Given the description of an element on the screen output the (x, y) to click on. 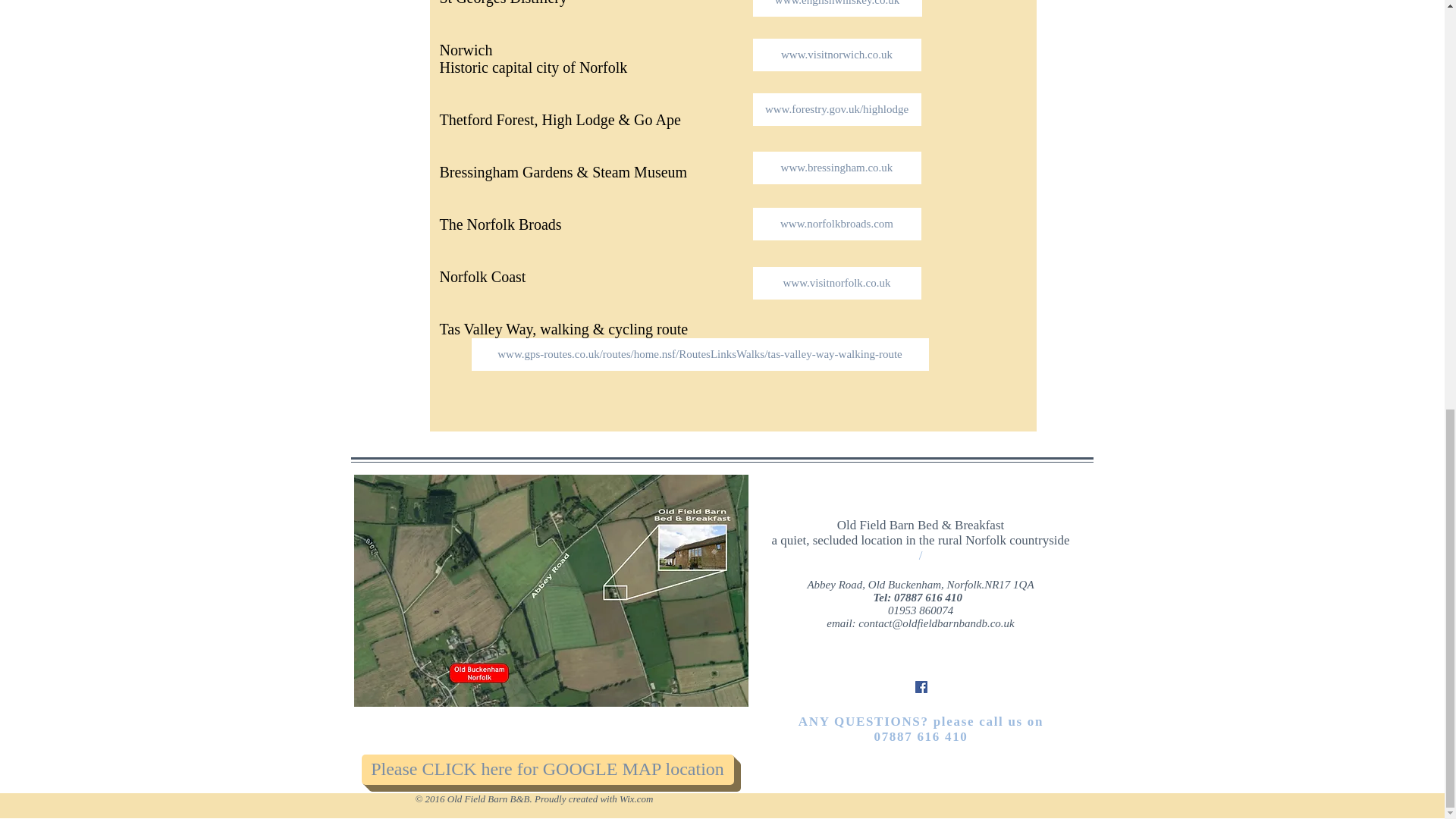
www.englishwhiskey.co.uk (836, 8)
Wix.com (636, 798)
www.visitnorwich.co.uk (836, 54)
www.visitnorfolk.co.uk (836, 282)
www.bressingham.co.uk (836, 167)
Please CLICK here for GOOGLE MAP location (547, 768)
www.norfolkbroads.com (836, 224)
